Given the description of an element on the screen output the (x, y) to click on. 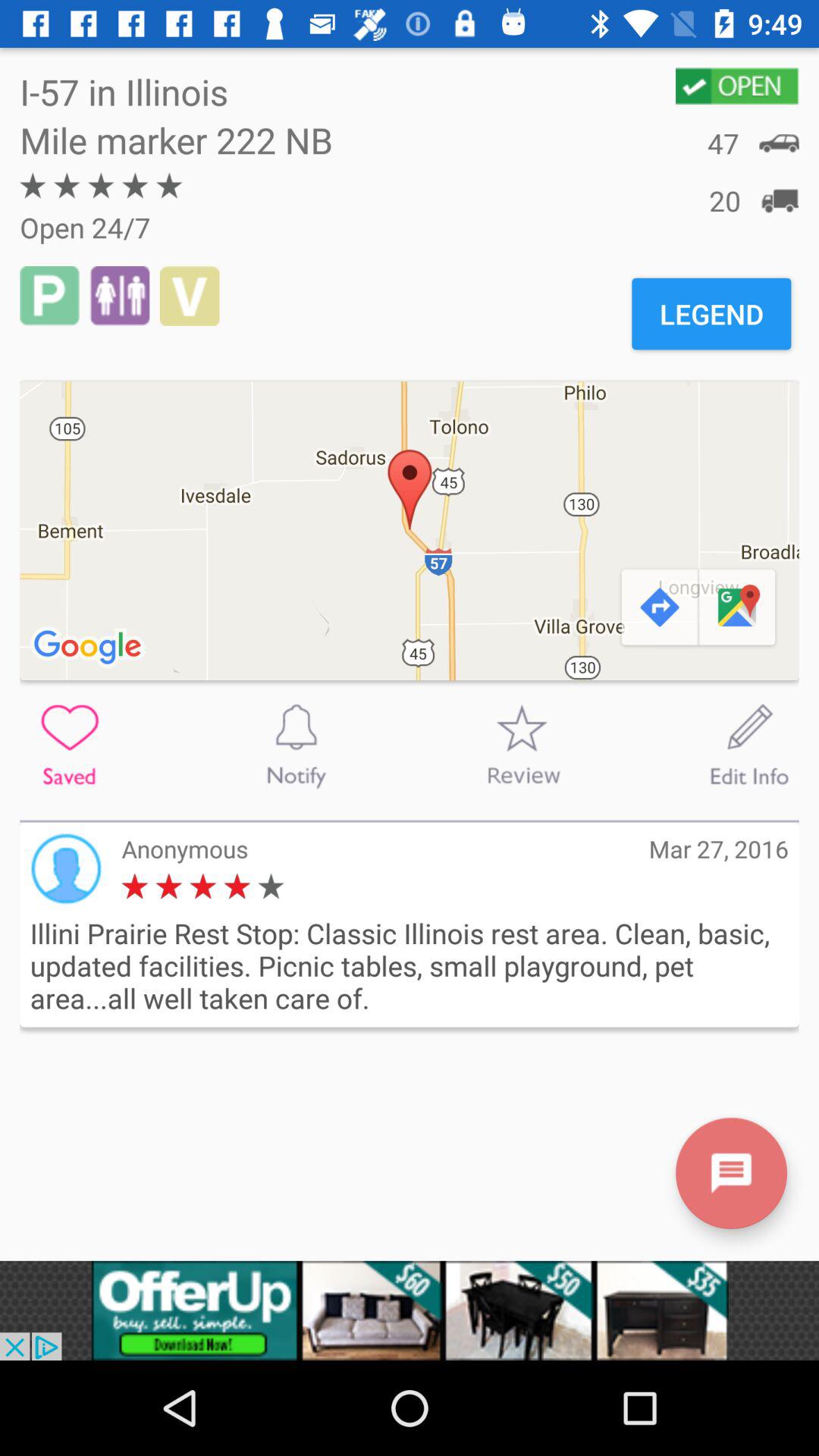
advertisement page (409, 1310)
